Given the description of an element on the screen output the (x, y) to click on. 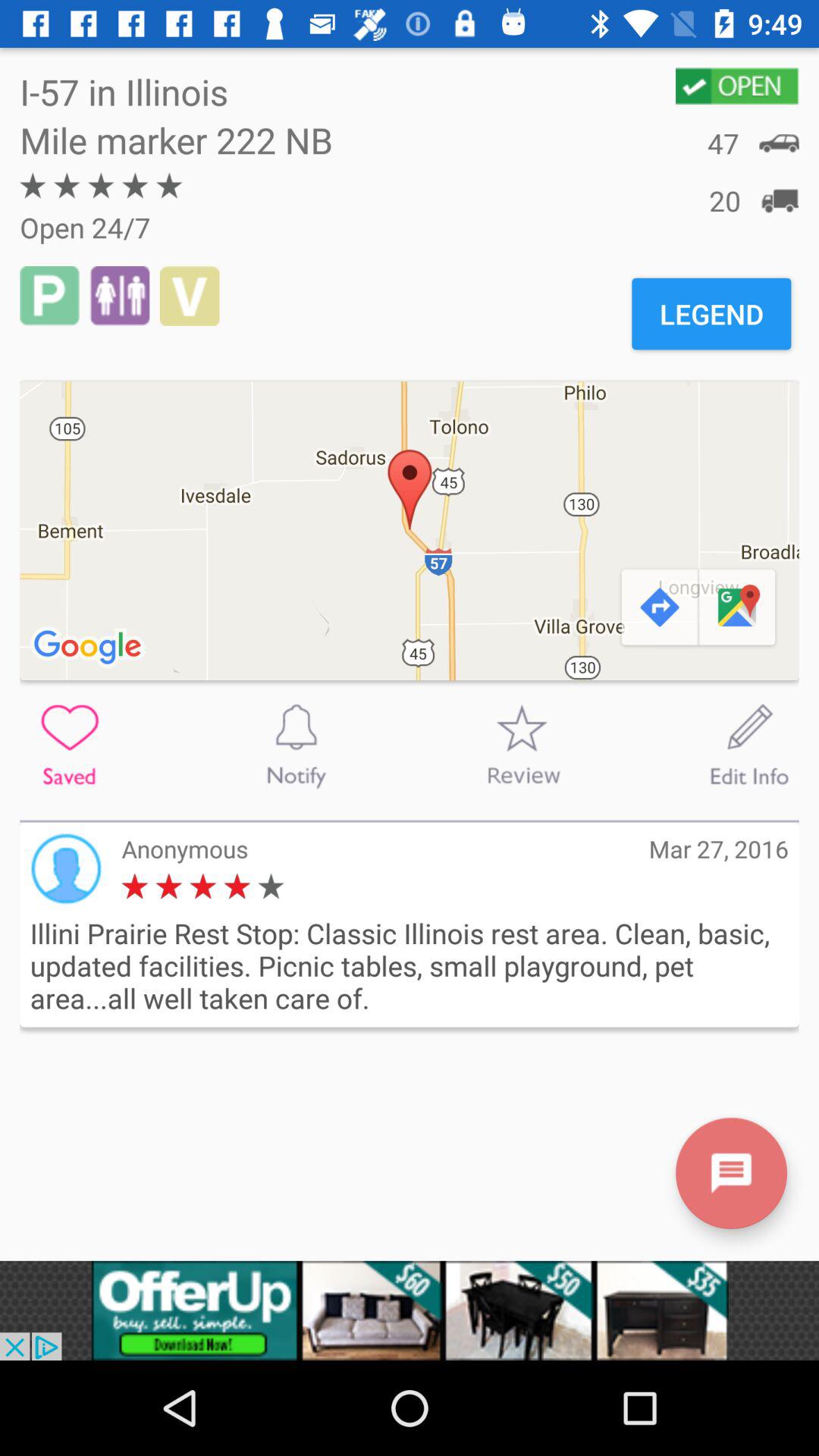
advertisement page (409, 1310)
